Given the description of an element on the screen output the (x, y) to click on. 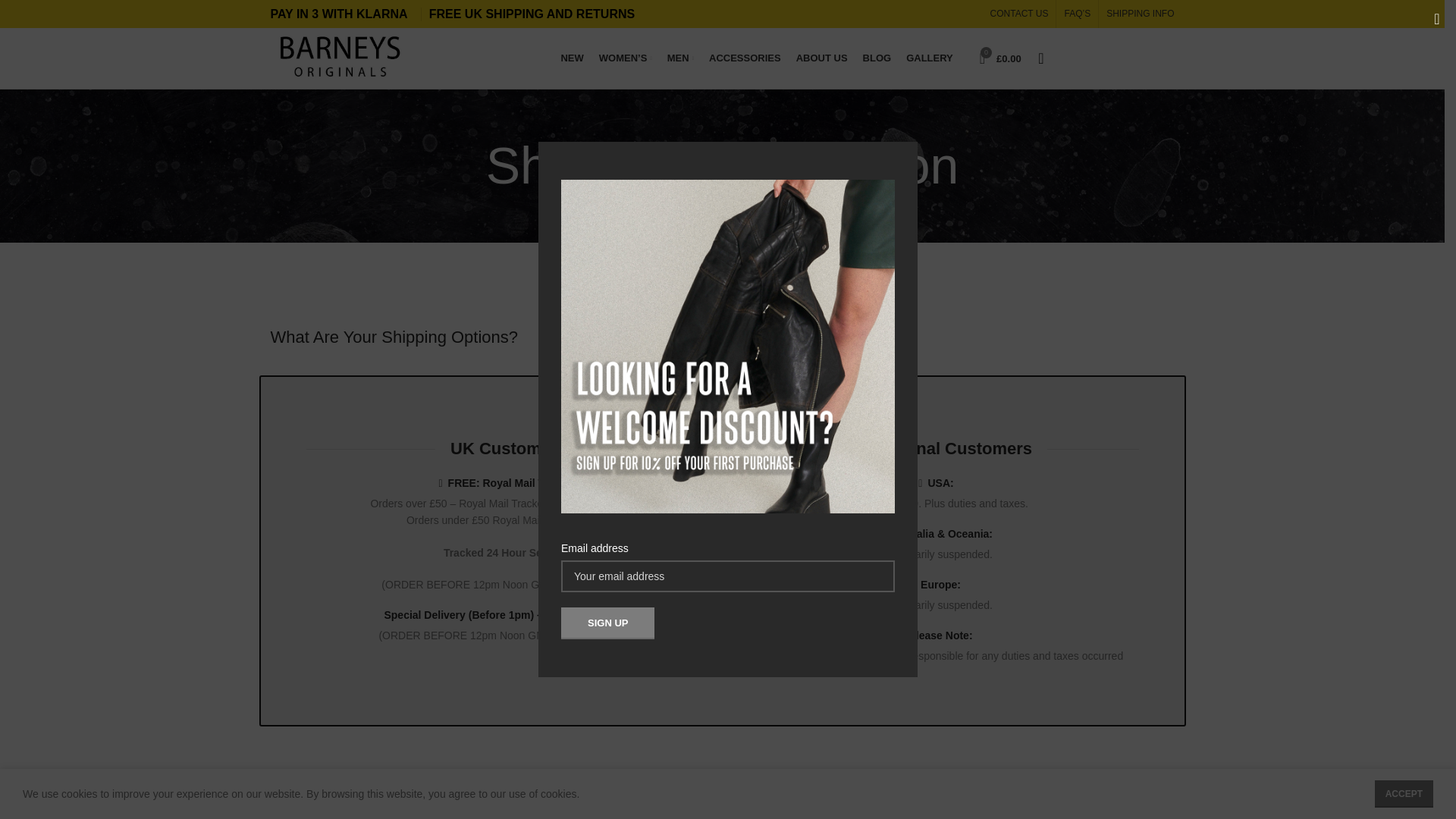
GALLERY (929, 58)
Your email address (727, 576)
ABOUT US (821, 58)
BLOG (877, 58)
Shopping cart (1000, 58)
CONTACT US (1019, 13)
Sign up (606, 623)
ACCESSORIES (744, 58)
welcome-discount (727, 346)
SHIPPING INFO (1139, 13)
Sign up (606, 623)
